Given the description of an element on the screen output the (x, y) to click on. 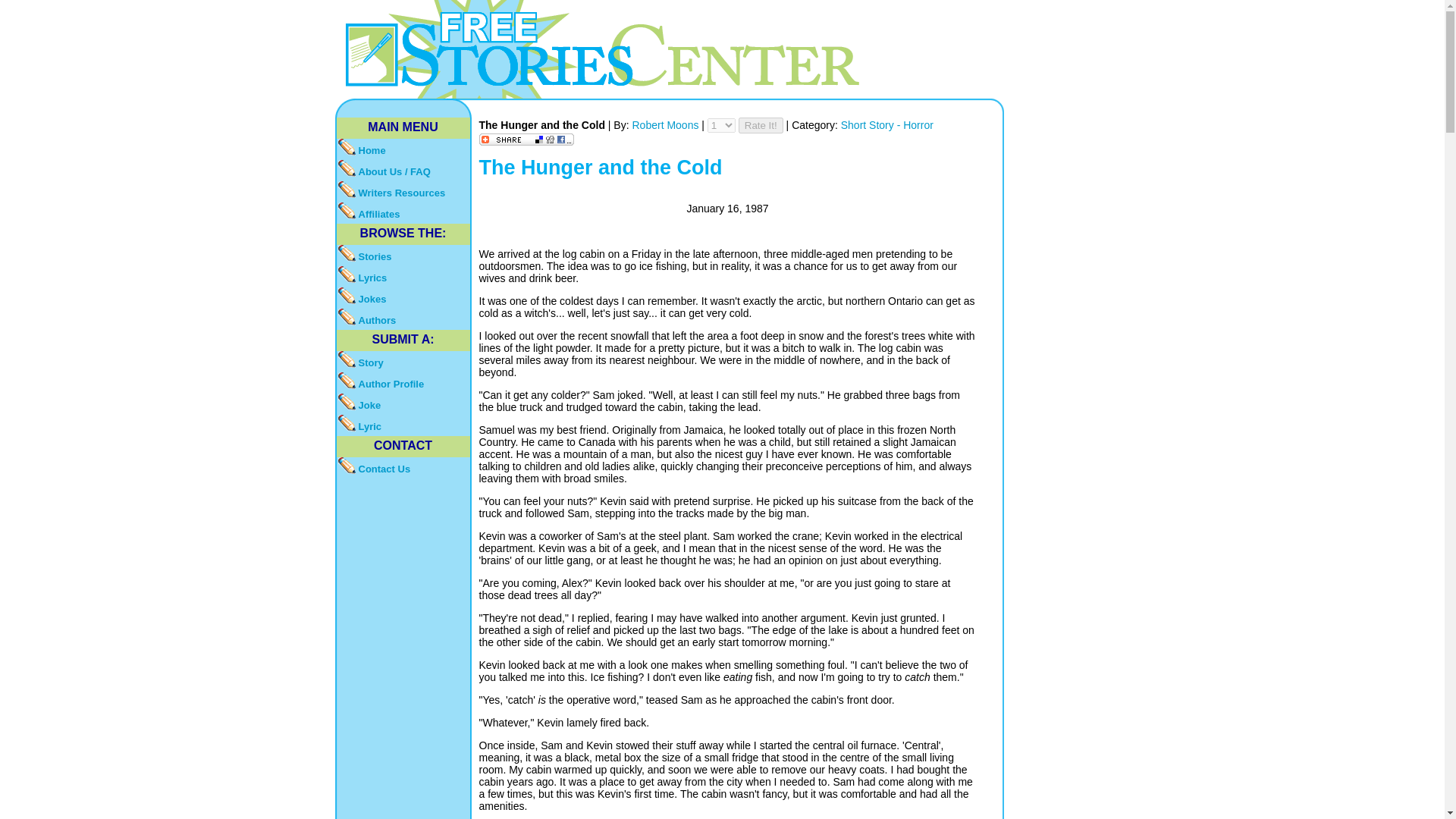
Story (403, 361)
Home (403, 148)
Authors (403, 319)
Affiliates (403, 212)
Joke (403, 403)
Lyrics (403, 276)
Short Story - Horror (887, 124)
Contact Us (403, 467)
Robert Moons (666, 124)
Rate It! (760, 125)
